Given the description of an element on the screen output the (x, y) to click on. 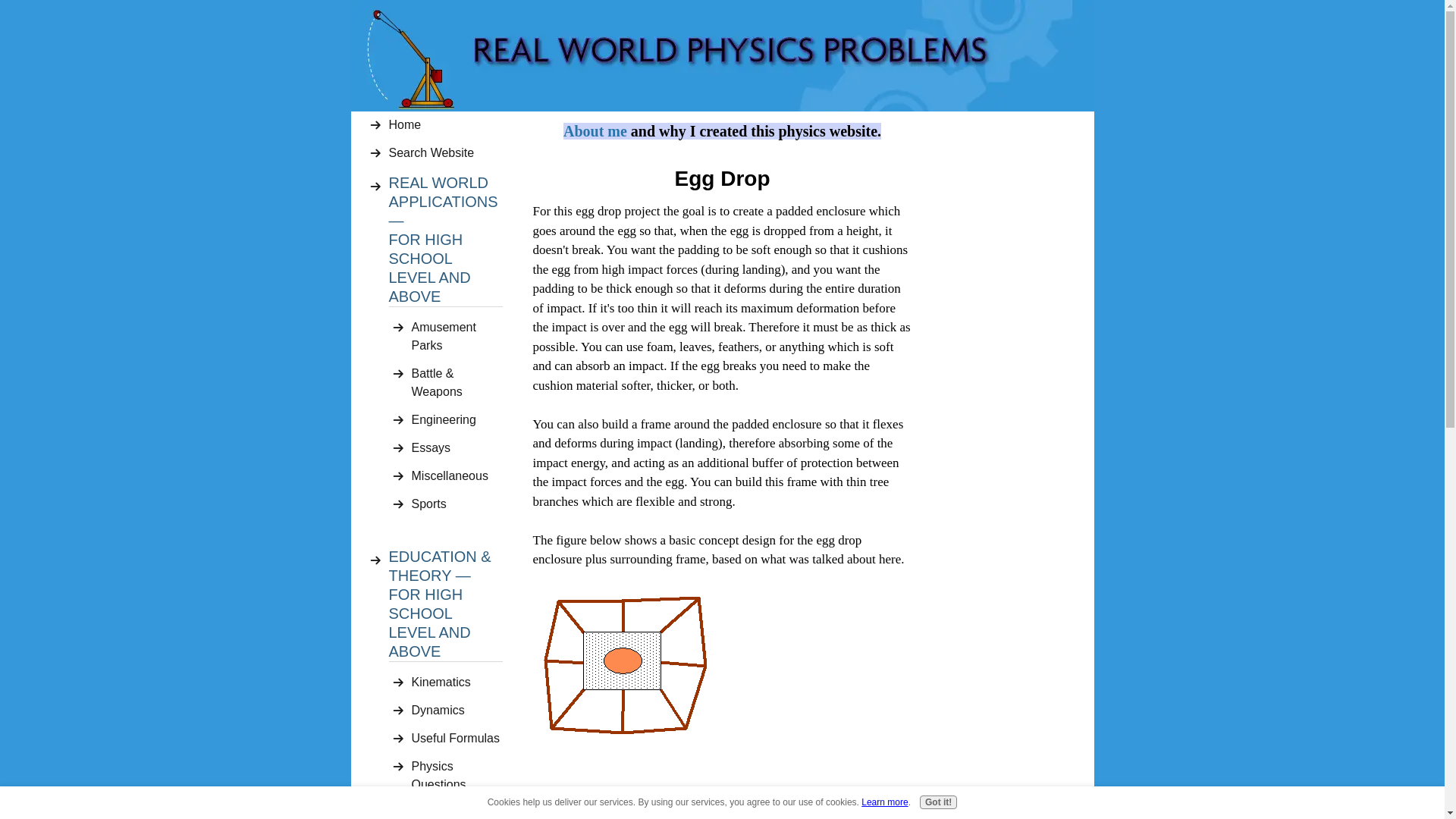
About me (595, 132)
Physics Questions (456, 775)
Engineering (456, 420)
Sports (456, 503)
Home (445, 125)
Amusement Parks (456, 336)
Kinematics (456, 682)
Essays (456, 447)
Search Website (445, 153)
Useful Formulas (456, 738)
